Given the description of an element on the screen output the (x, y) to click on. 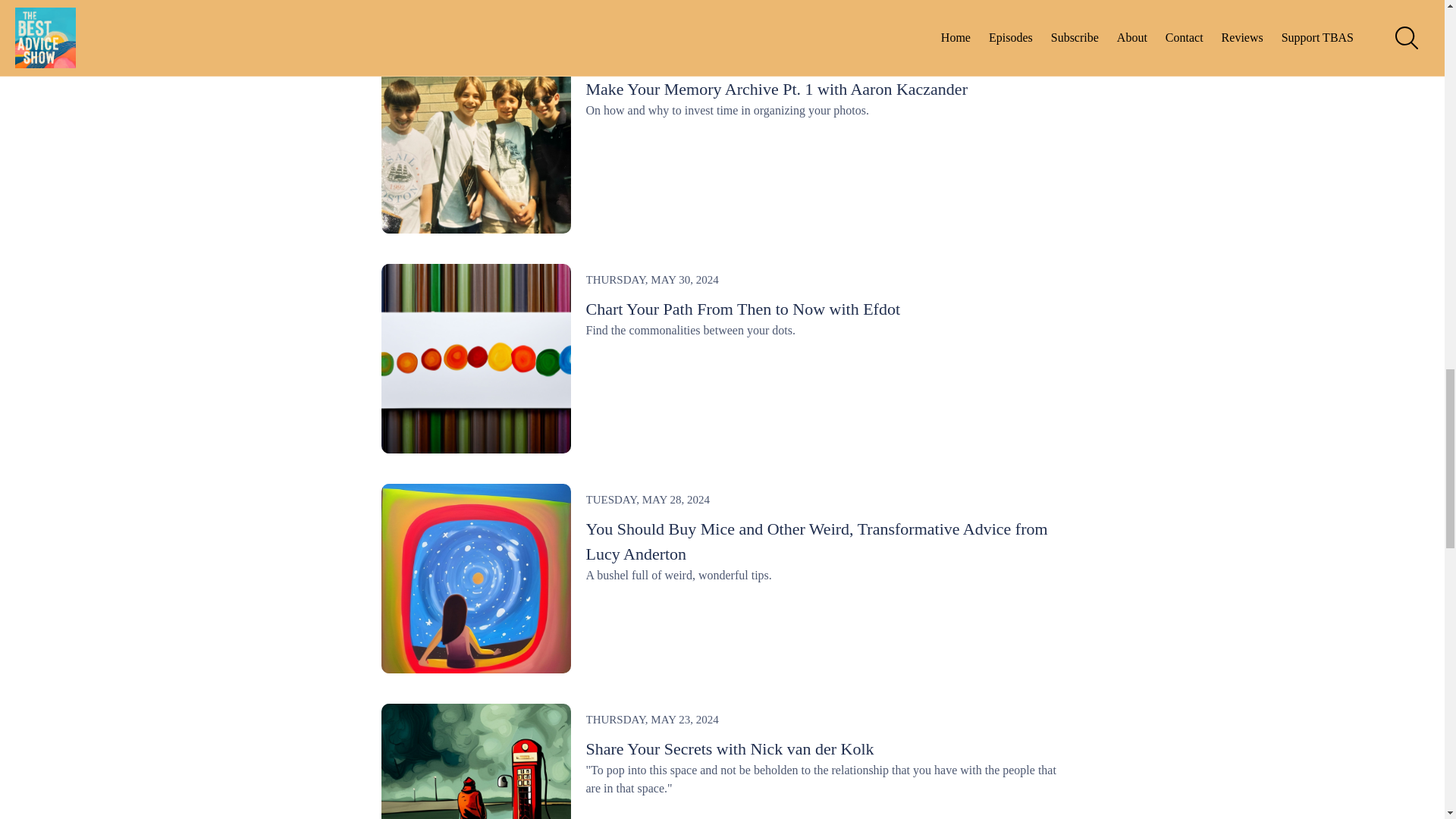
Search for episodes (716, 337)
Send (716, 595)
Subscribe to episodes (716, 348)
